Given the description of an element on the screen output the (x, y) to click on. 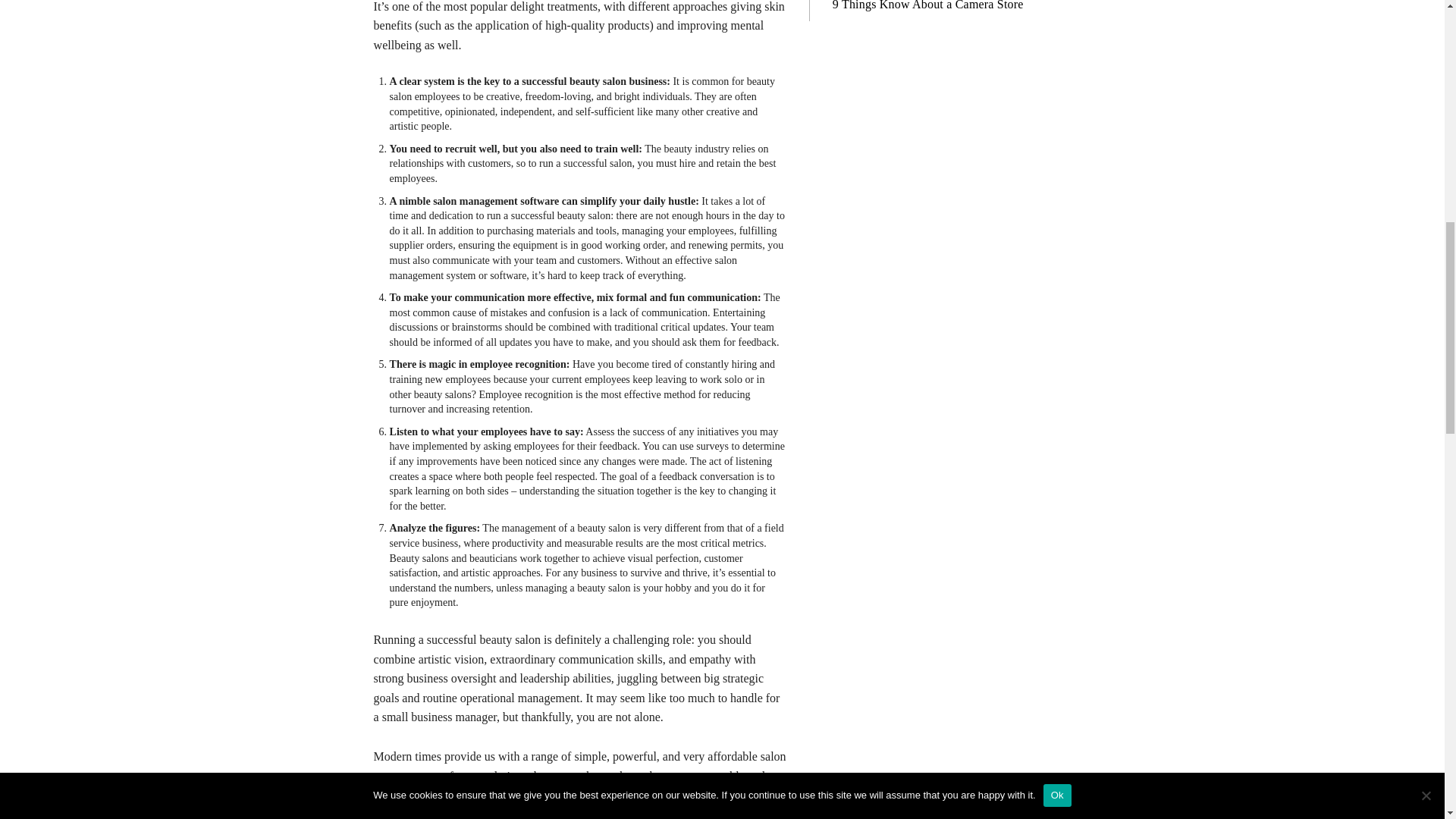
9 Things Know About a Camera Store (927, 5)
